Given the description of an element on the screen output the (x, y) to click on. 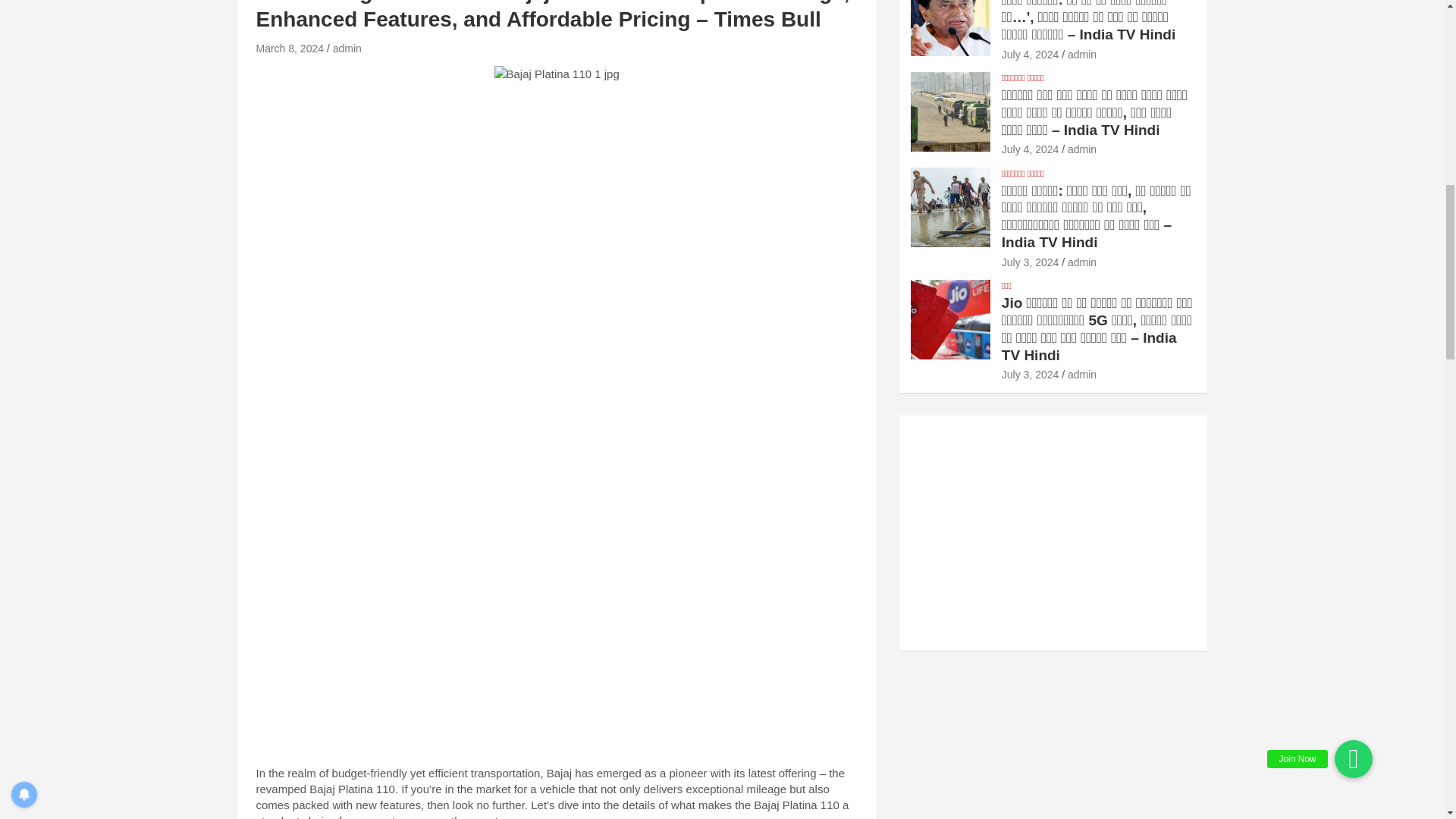
March 8, 2024 (290, 48)
admin (347, 48)
Advertisement (556, 193)
Advertisement (556, 639)
